Given the description of an element on the screen output the (x, y) to click on. 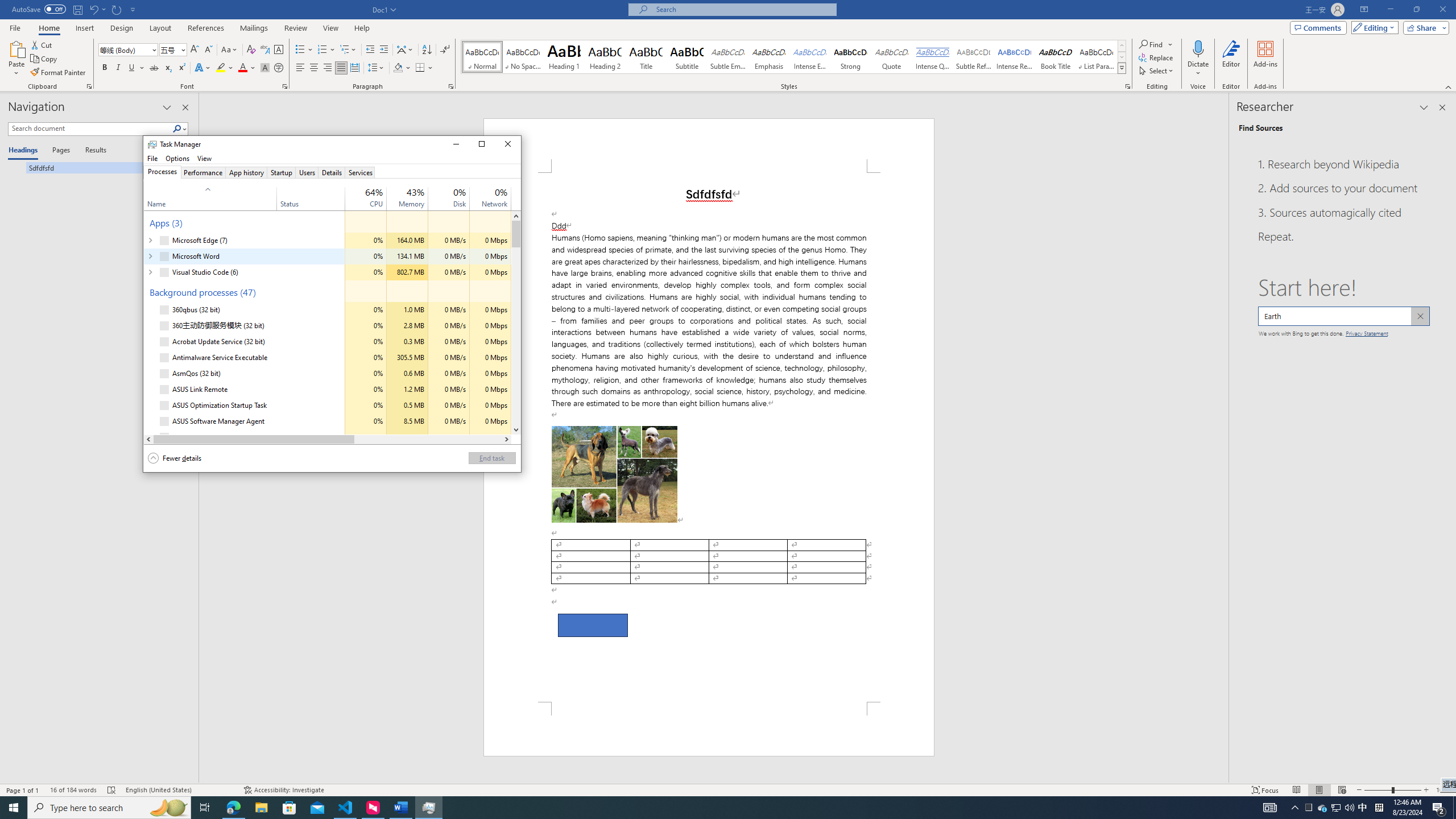
Subtle Emphasis (1362, 807)
Undo  (727, 56)
Footer -Section 1- (92, 9)
Subtitle (708, 728)
App history (686, 56)
File (246, 171)
Emphasis (151, 158)
Horizontal (768, 56)
Book Title (327, 438)
